Given the description of an element on the screen output the (x, y) to click on. 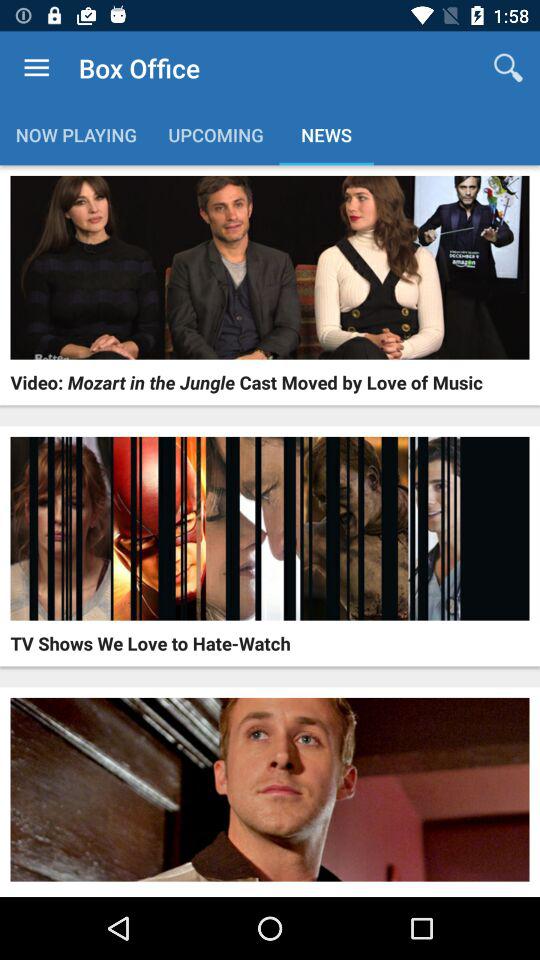
click the ryan gosling s (135, 894)
